Given the description of an element on the screen output the (x, y) to click on. 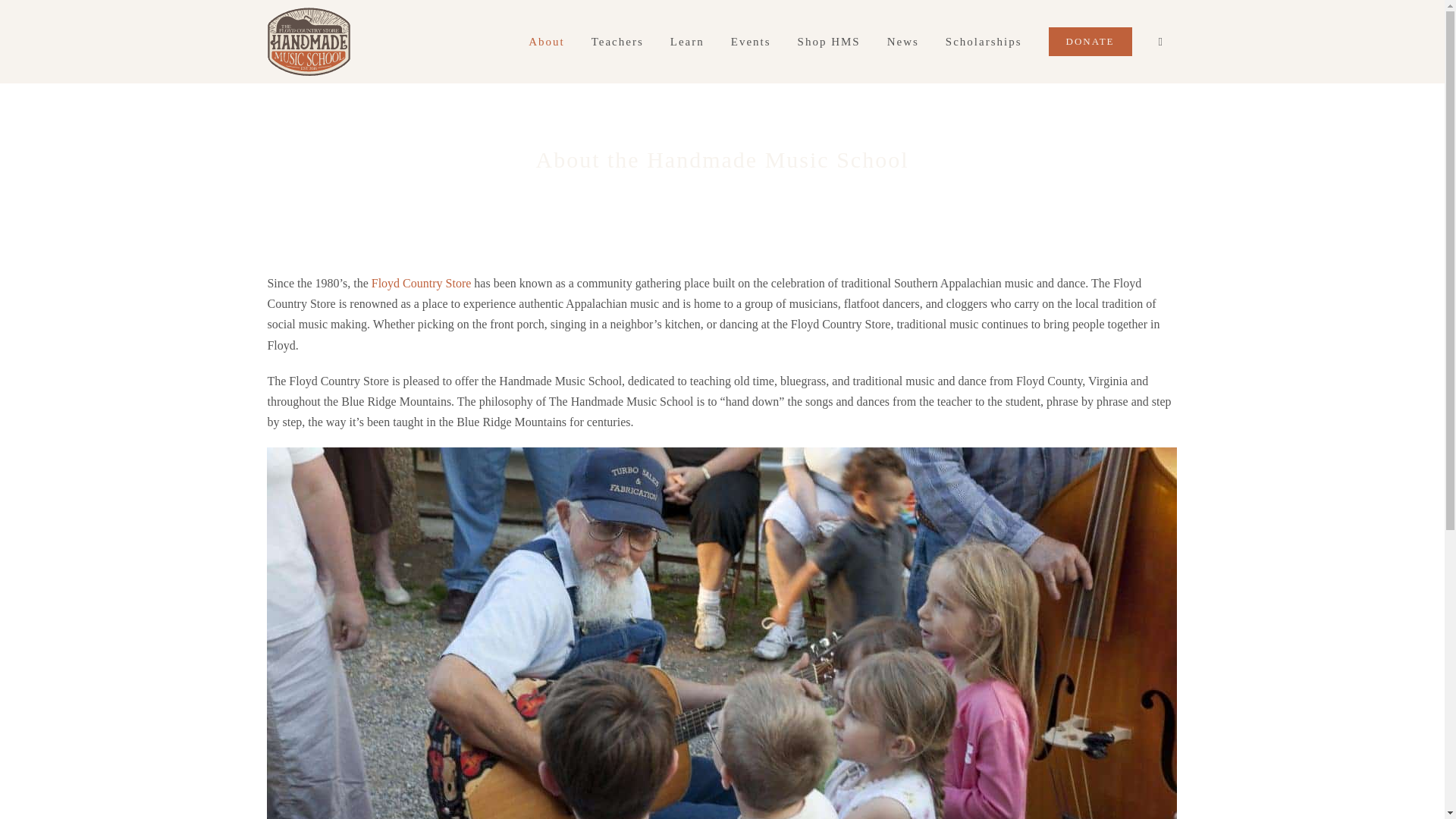
Shop HMS (828, 41)
Teachers (617, 41)
DONATE (1089, 41)
Scholarships (983, 41)
